Given the description of an element on the screen output the (x, y) to click on. 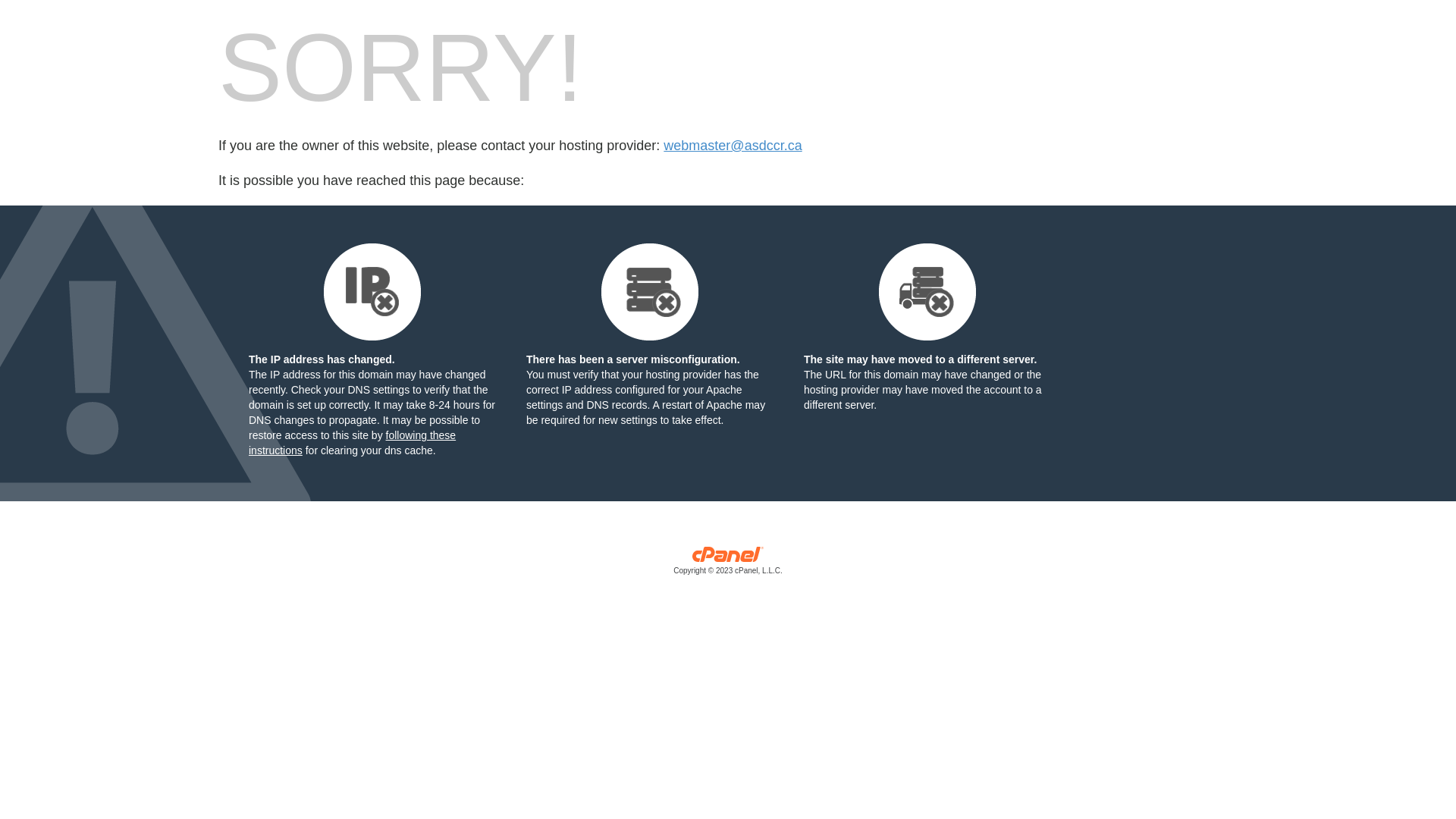
following these instructions Element type: text (351, 442)
webmaster@asdccr.ca Element type: text (732, 145)
